Given the description of an element on the screen output the (x, y) to click on. 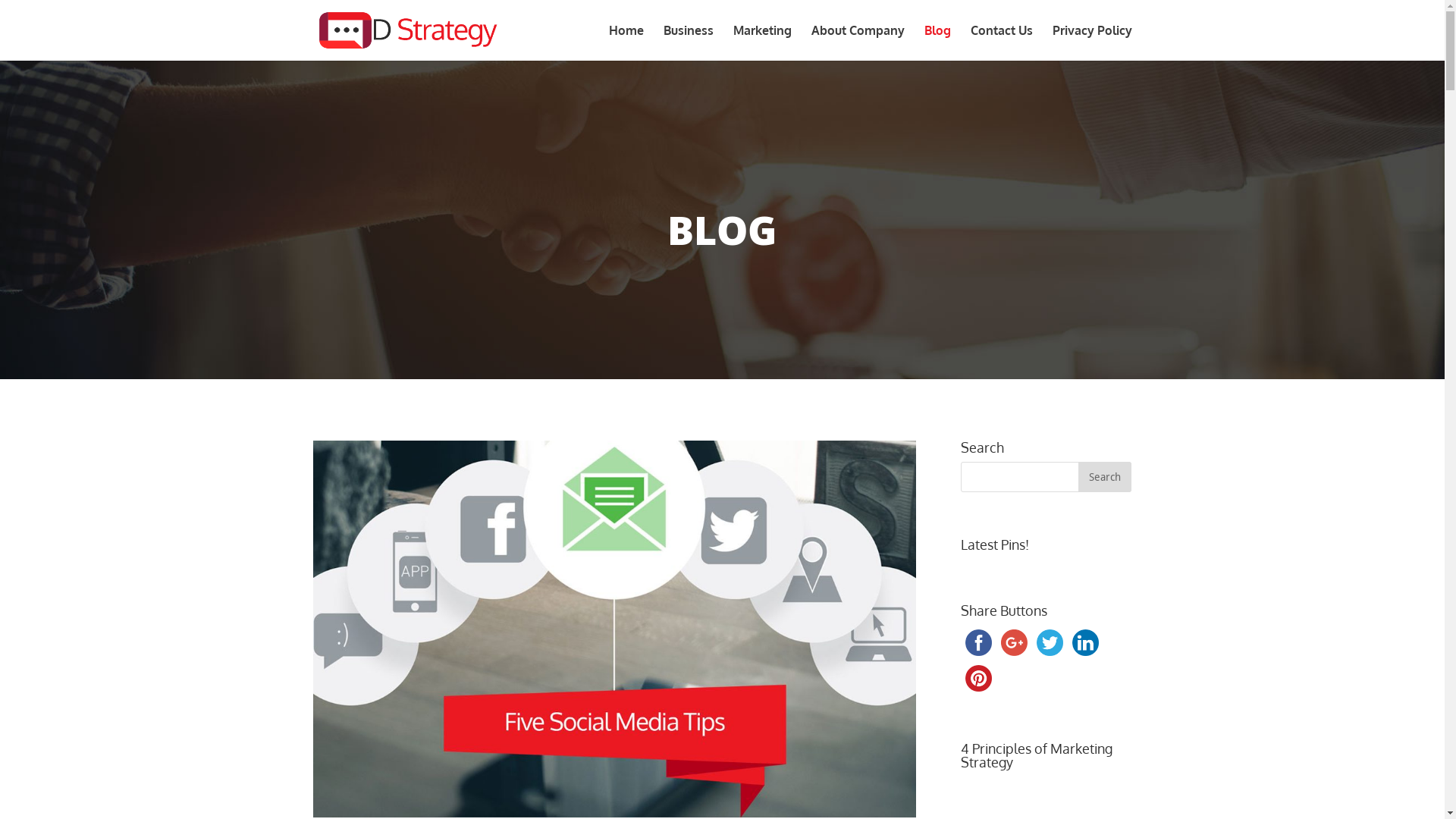
Marketing Element type: text (761, 42)
Contact Us Element type: text (1001, 42)
linkedin Element type: hover (1085, 642)
Search Element type: text (1104, 476)
Privacy Policy Element type: text (1092, 42)
Blog Element type: text (936, 42)
pinterest Element type: hover (978, 678)
Business Element type: text (687, 42)
About Company Element type: text (857, 42)
Home Element type: text (625, 42)
facebook Element type: hover (978, 642)
google Element type: hover (1014, 642)
twitter Element type: hover (1049, 642)
